Given the description of an element on the screen output the (x, y) to click on. 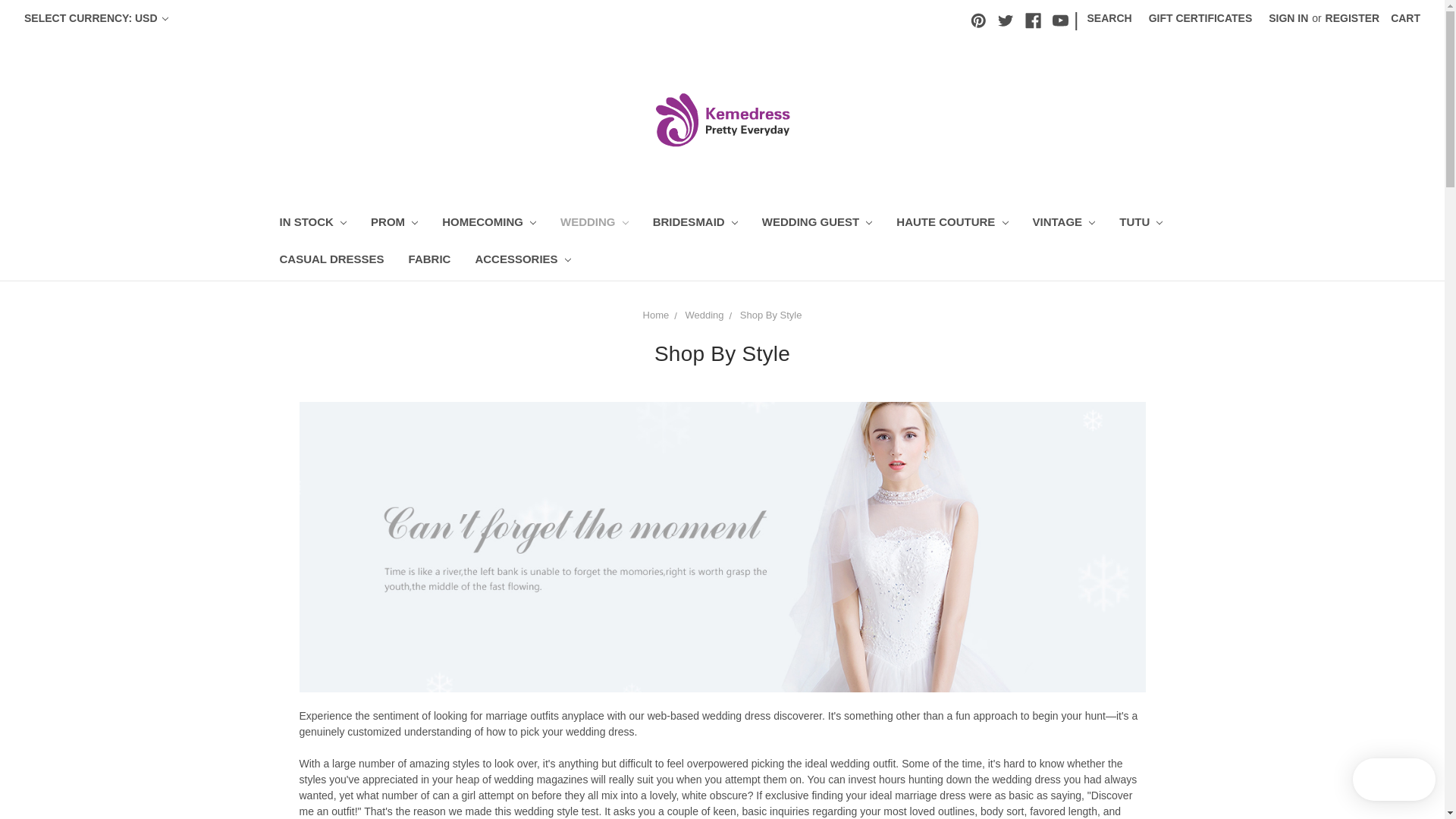
IN STOCK (312, 223)
SELECT CURRENCY: USD (96, 18)
SIGN IN (1288, 18)
REGISTER (1353, 18)
Kemedress (722, 119)
PROM (393, 223)
CART (1404, 18)
SEARCH (1109, 18)
GIFT CERTIFICATES (1200, 18)
